Given the description of an element on the screen output the (x, y) to click on. 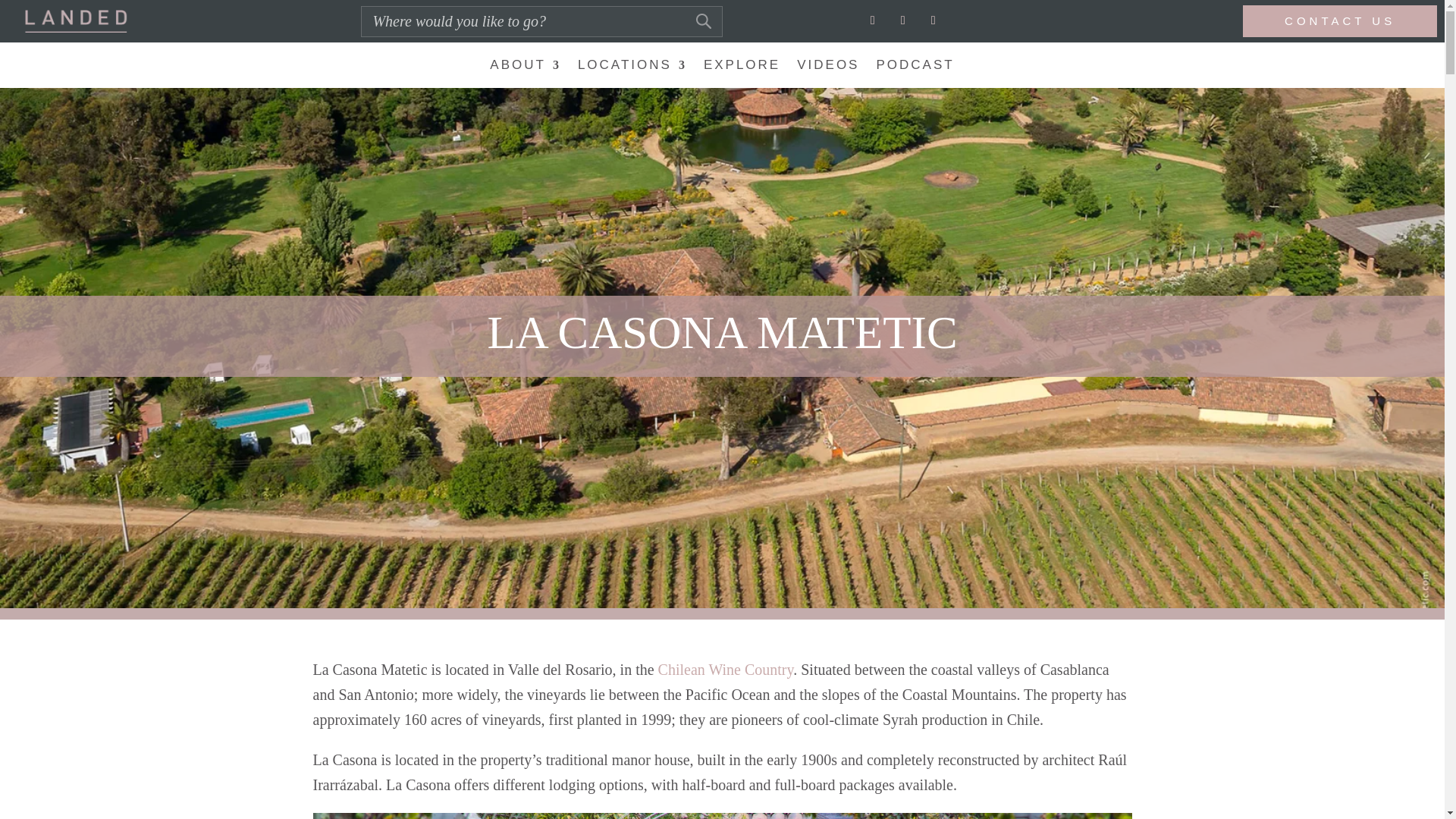
Follow on Instagram (872, 20)
Landed Travel Homepage (76, 20)
Search (21, 14)
LOCATIONS (632, 67)
CONTACT US (1340, 20)
Follow on Spotify (932, 20)
Follow on Facebook (903, 20)
Follow (932, 20)
Follow (872, 20)
Follow (903, 20)
ABOUT (524, 67)
